Given the description of an element on the screen output the (x, y) to click on. 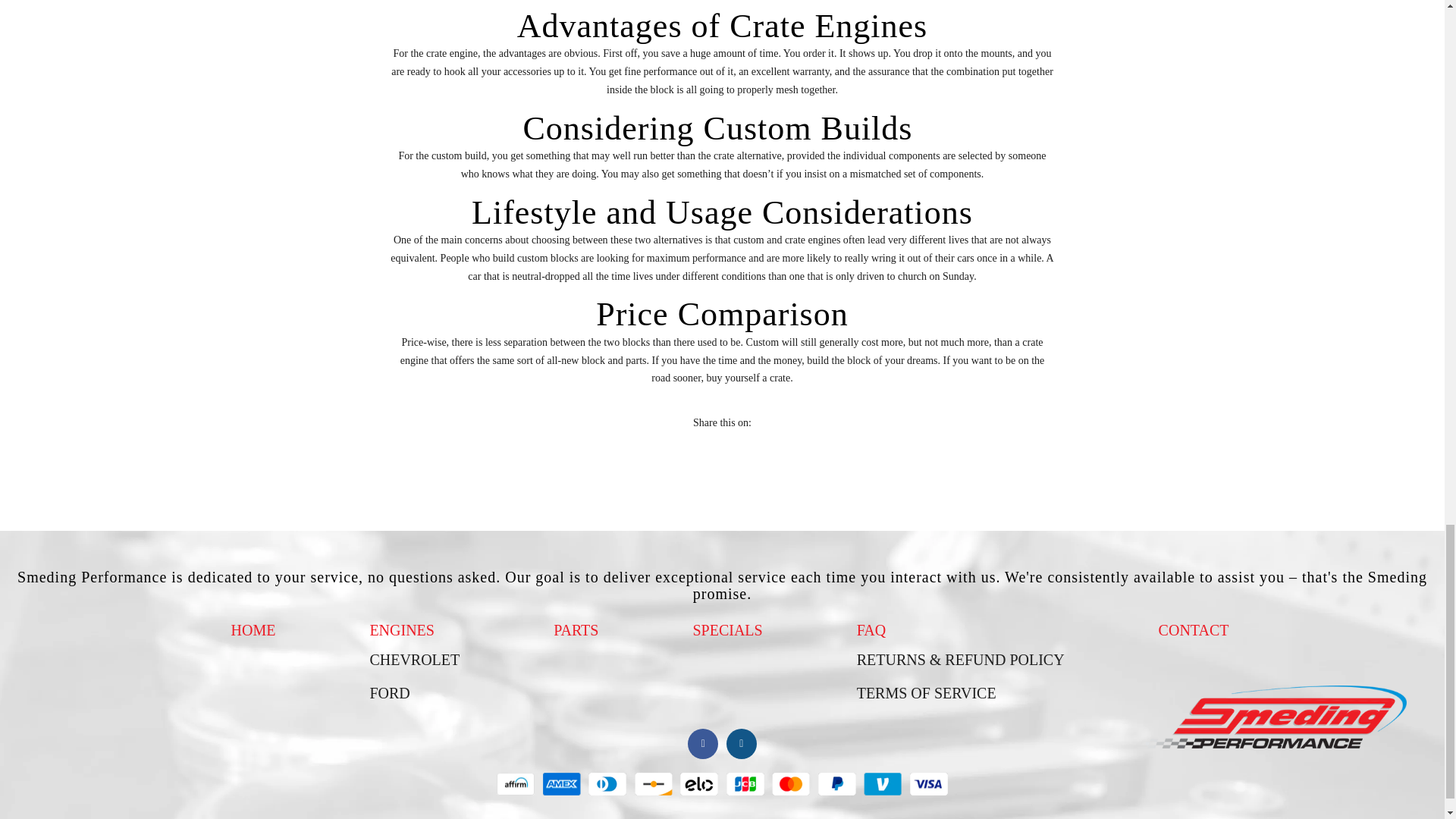
crate engine (451, 52)
crate engine (451, 52)
